Given the description of an element on the screen output the (x, y) to click on. 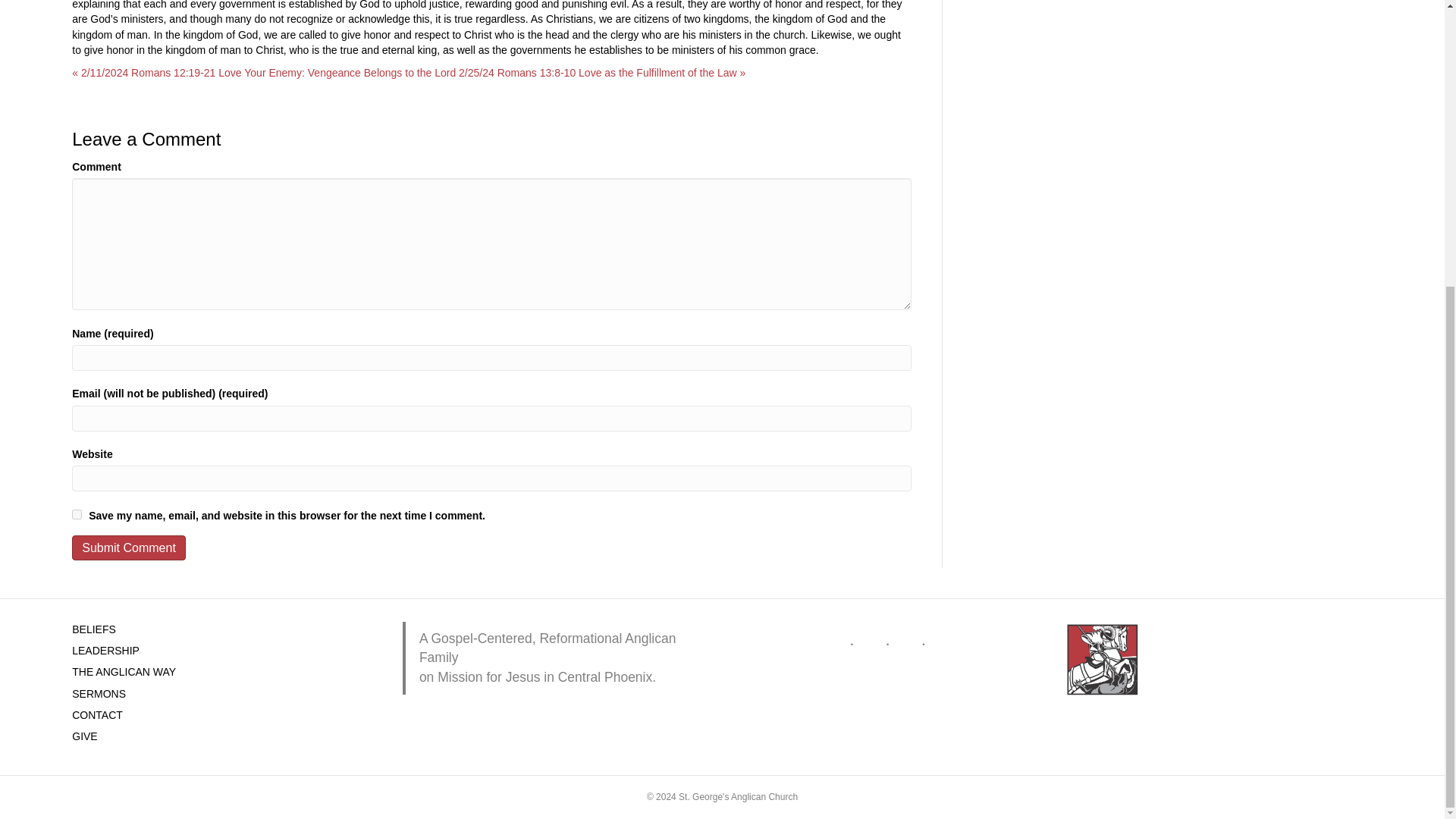
SERMONS (98, 693)
CONTACT (96, 715)
LEADERSHIP (105, 650)
yes (76, 514)
Submit Comment (128, 547)
Submit Comment (128, 547)
THE ANGLICAN WAY (123, 671)
BELIEFS (93, 629)
GIVE (84, 736)
